Given the description of an element on the screen output the (x, y) to click on. 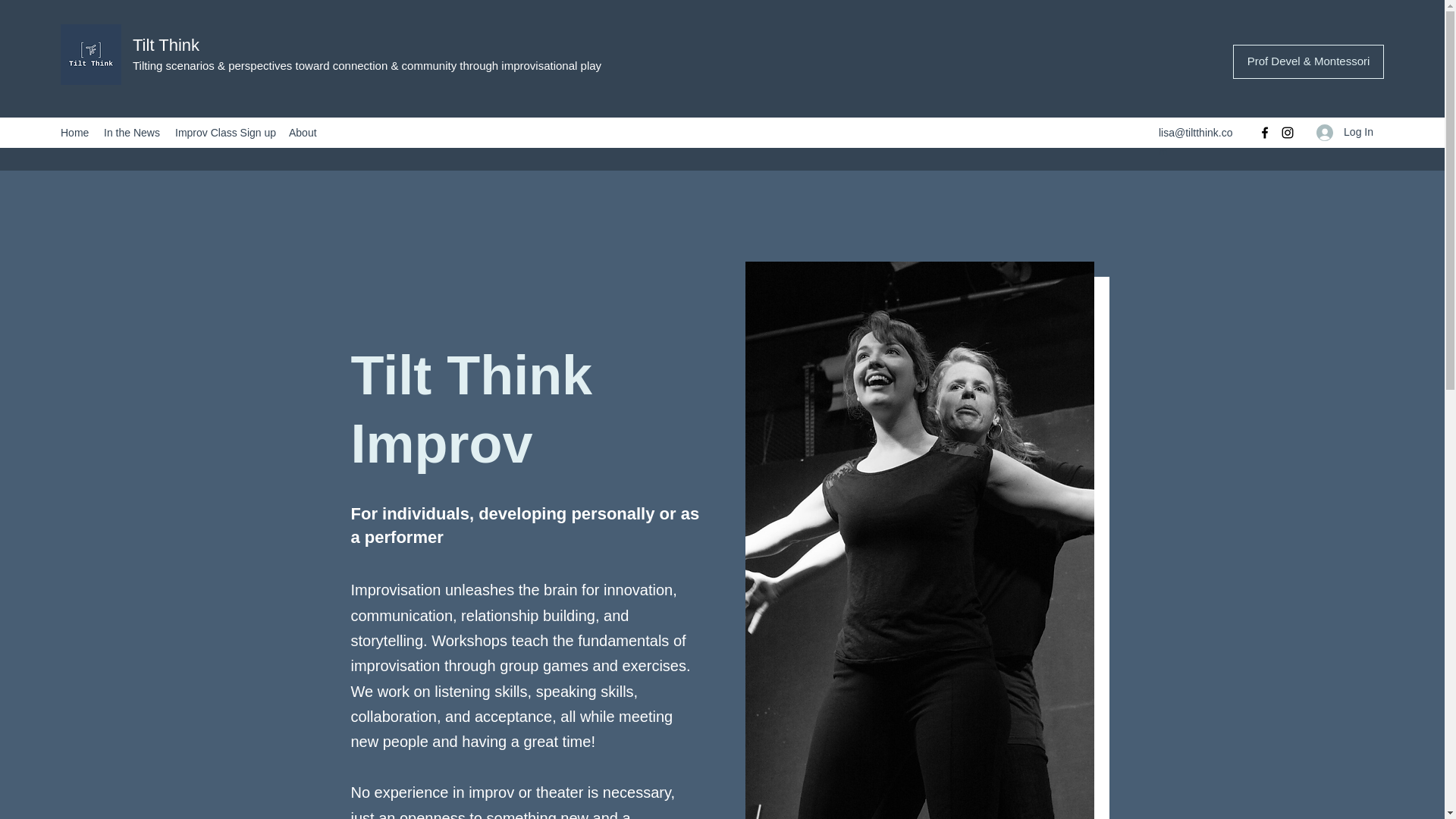
In the News (131, 132)
Improv Class Sign up (224, 132)
Log In (1345, 131)
About (302, 132)
Home (74, 132)
Tilt Think (165, 45)
